Given the description of an element on the screen output the (x, y) to click on. 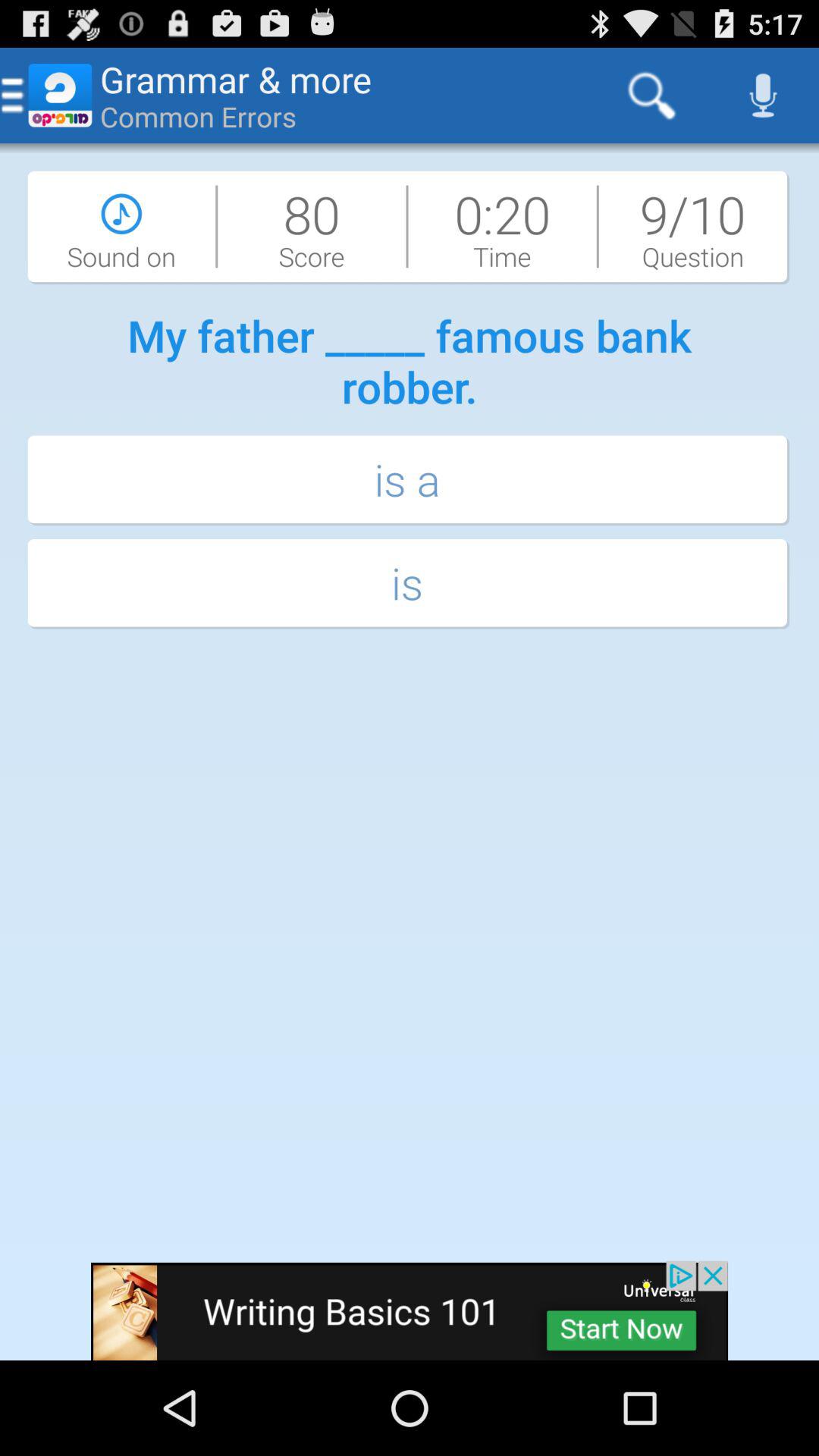
open advertisements (409, 1310)
